Given the description of an element on the screen output the (x, y) to click on. 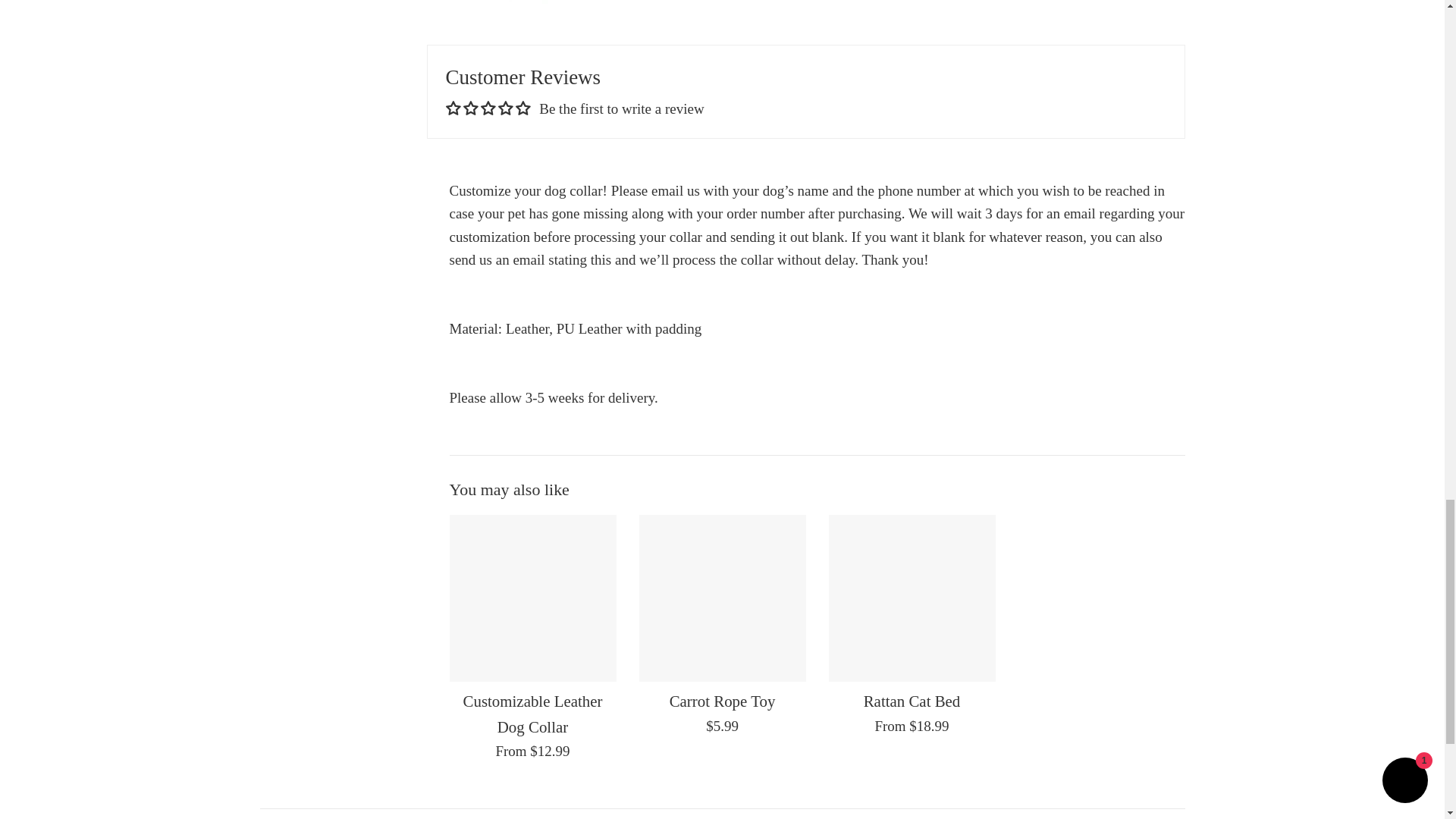
Customizable Leather Dog Collar (531, 598)
Carrot Rope Toy (722, 598)
Rattan Cat Bed (911, 598)
